Given the description of an element on the screen output the (x, y) to click on. 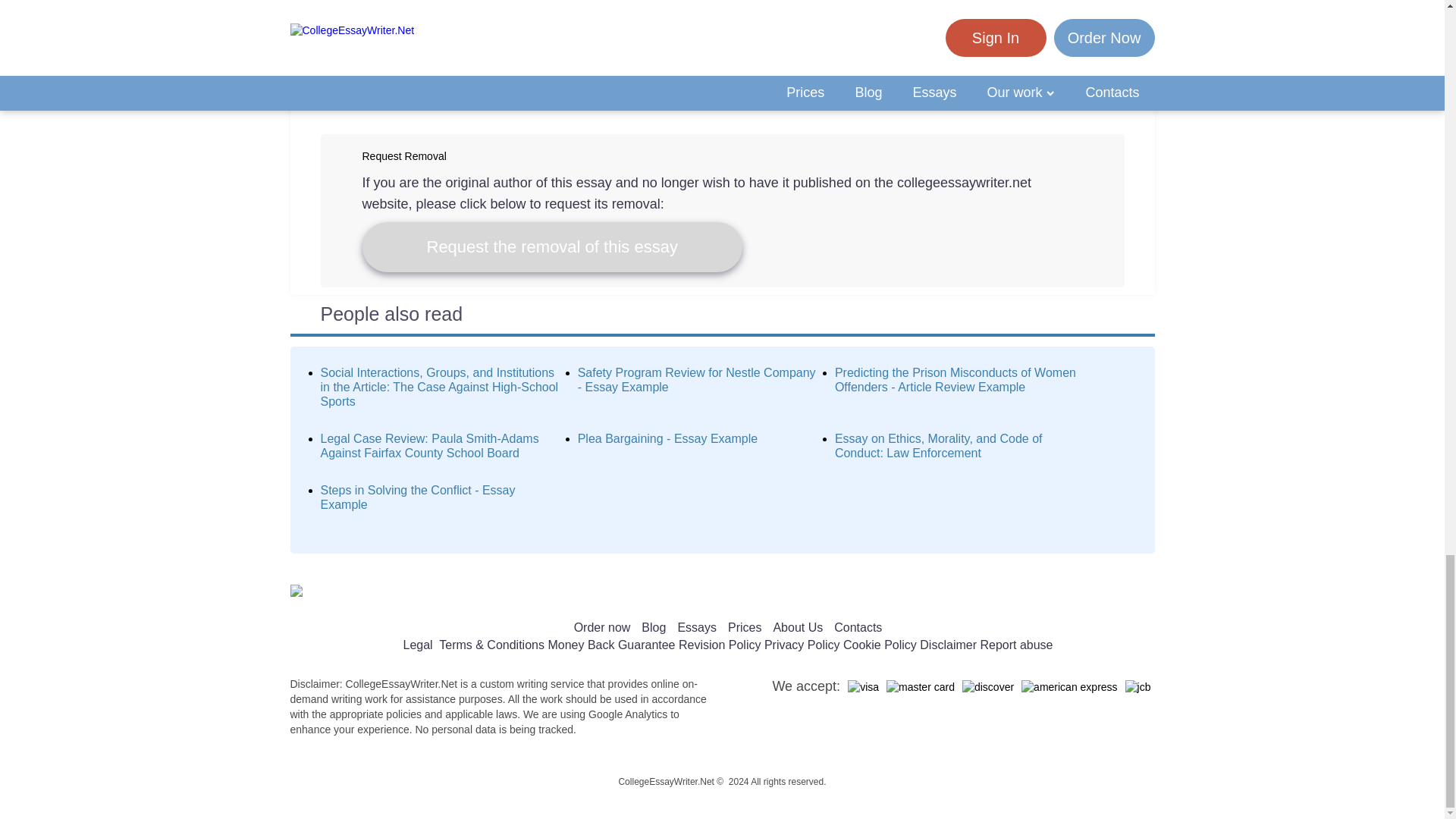
About Us (797, 626)
Steps in Solving the Conflict - Essay Example (417, 497)
Safety Program Review for Nestle Company - Essay Example (696, 379)
Blog (653, 626)
Order now (601, 626)
master card (920, 687)
Contacts (858, 626)
Essays (696, 626)
visa (863, 687)
